Given the description of an element on the screen output the (x, y) to click on. 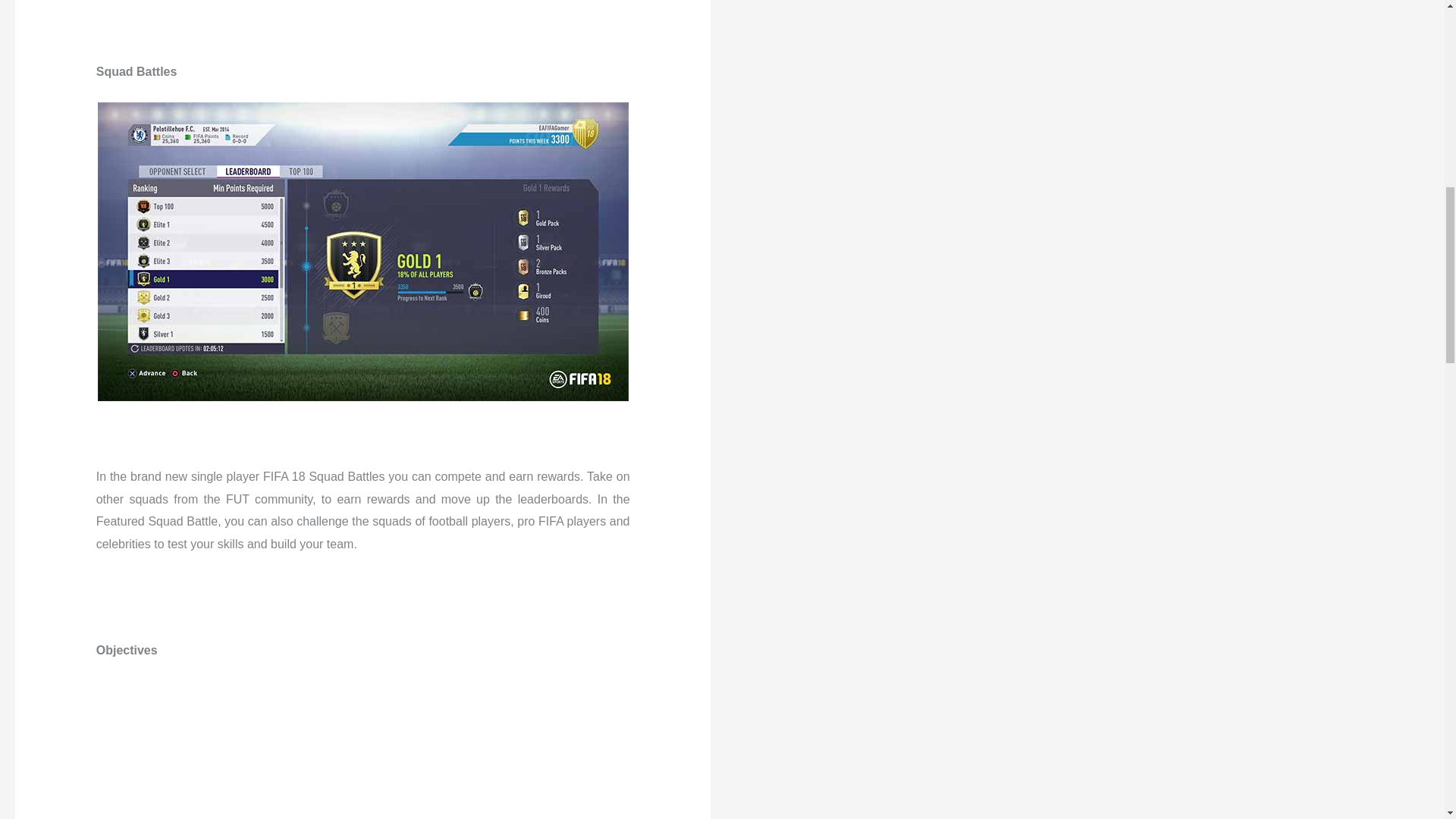
Meet the New FIFA 18 Ultimate Team Features (362, 738)
Advertisement (1092, 2)
